Given the description of an element on the screen output the (x, y) to click on. 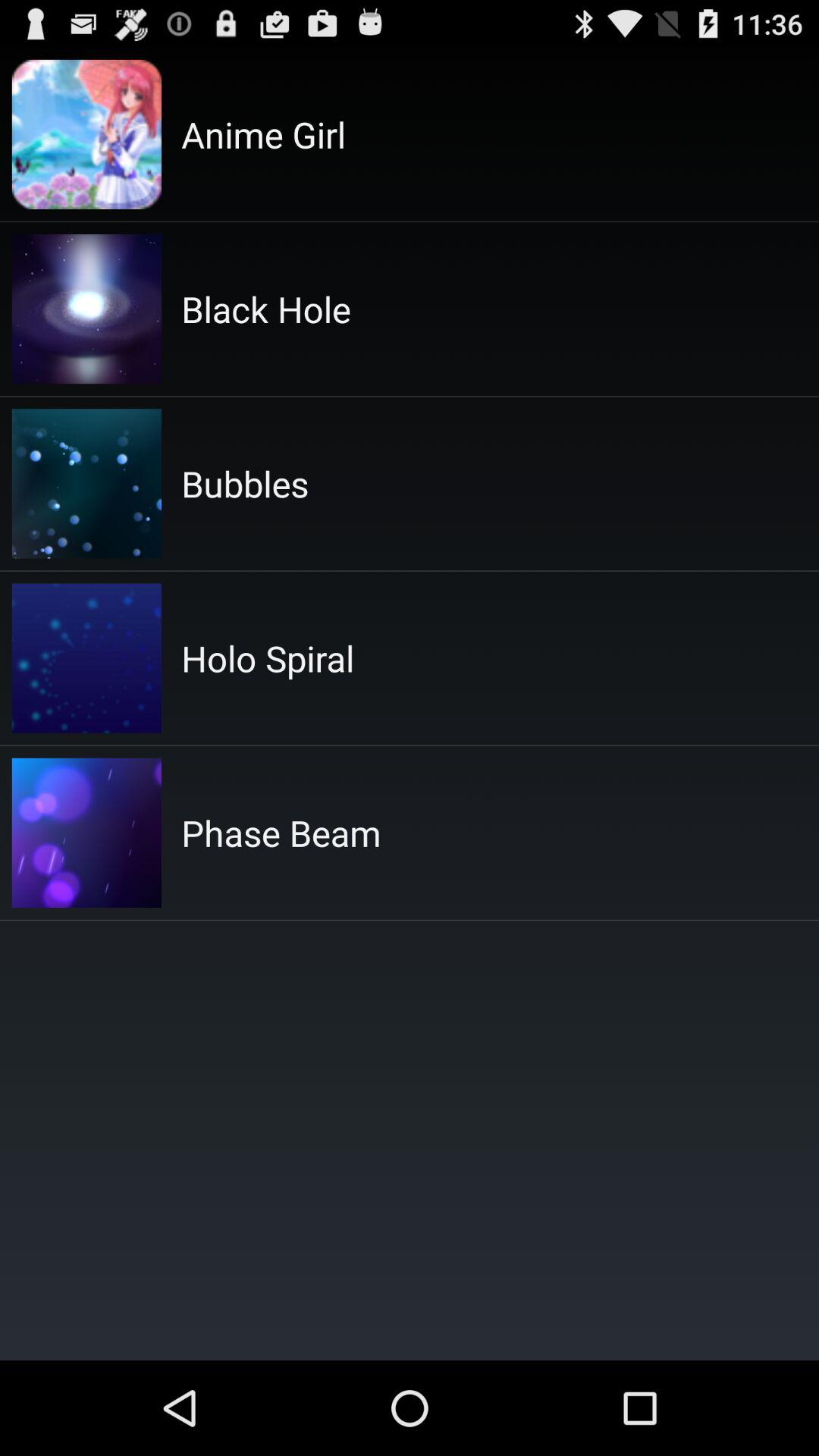
scroll to anime girl (263, 134)
